Given the description of an element on the screen output the (x, y) to click on. 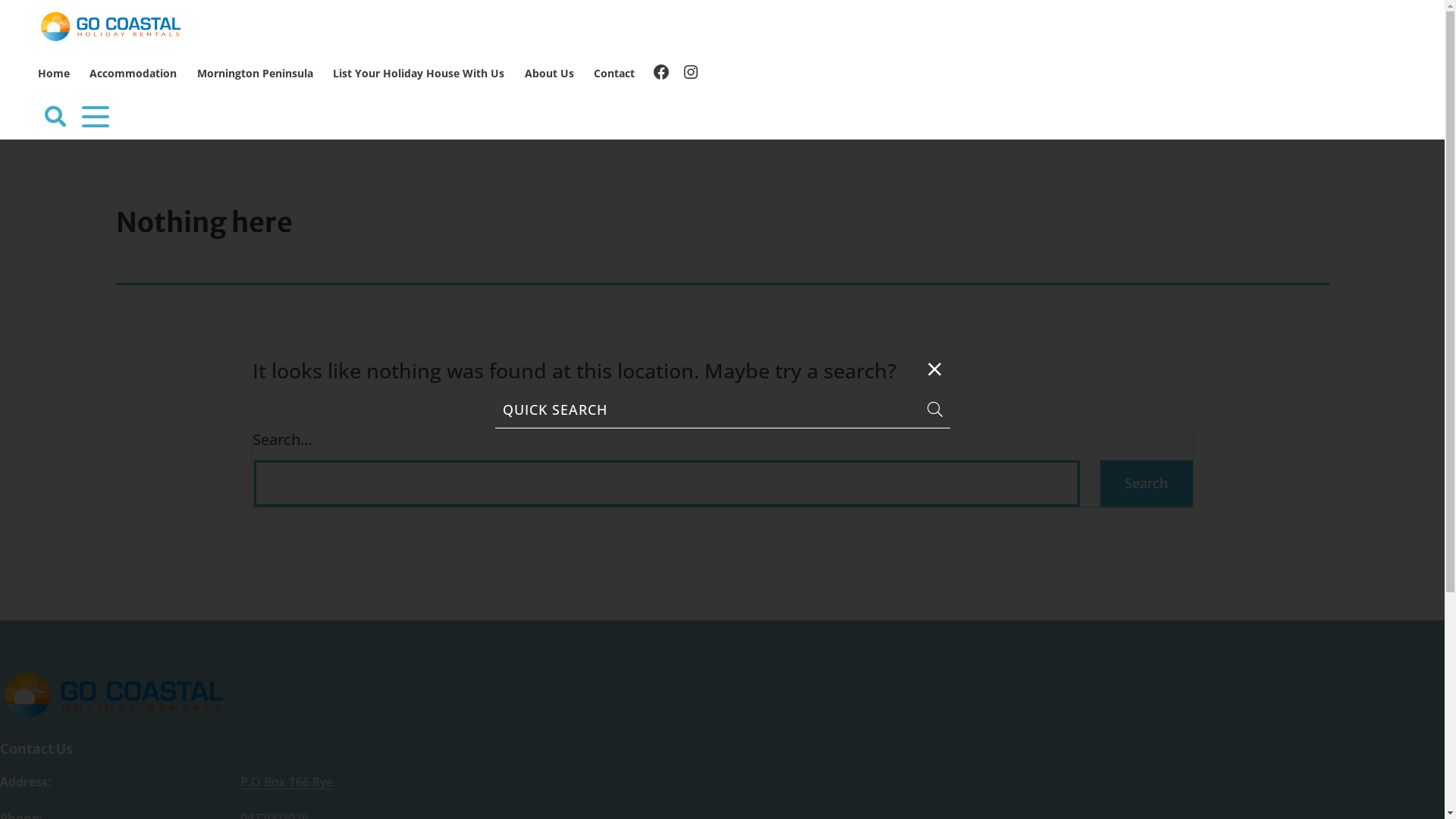
Instagram Element type: text (690, 73)
List Your Holiday House With Us Element type: text (418, 73)
Search Element type: text (1145, 483)
Mornington Peninsula Element type: text (255, 73)
Home Element type: text (53, 73)
Contact Element type: text (613, 73)
About Us Element type: text (548, 73)
P.O Box 166 Rye Element type: text (286, 781)
Accommodation Element type: text (132, 73)
Facebook Element type: text (661, 73)
